Given the description of an element on the screen output the (x, y) to click on. 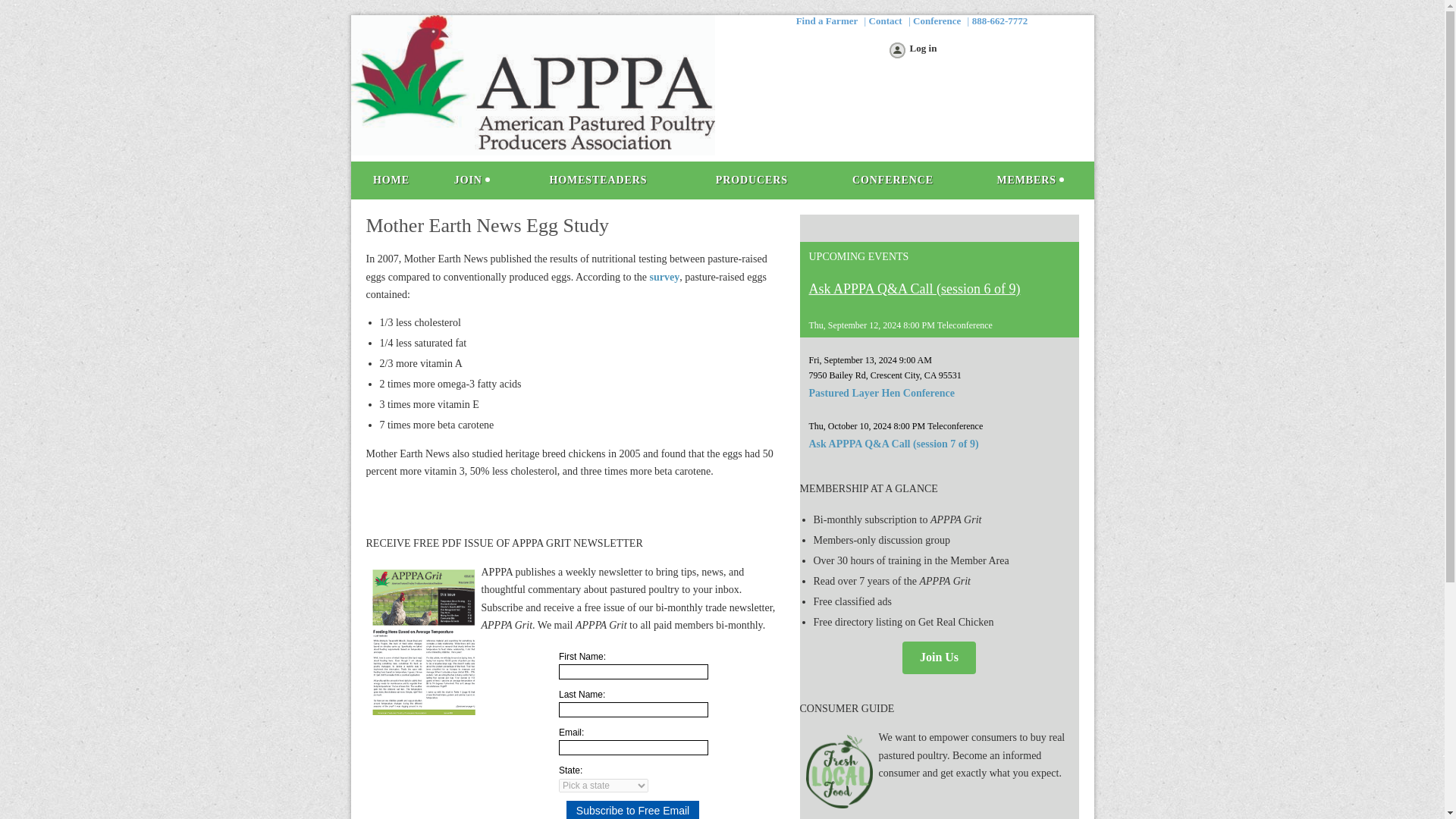
Find a Farmer (827, 20)
Members (1030, 180)
Conference (936, 20)
Log in (911, 51)
Join Us (938, 657)
PRODUCERS (751, 180)
Contact (885, 20)
Find a Farmer (827, 20)
888-662-7772 (999, 20)
888-662-7772 (999, 20)
